Given the description of an element on the screen output the (x, y) to click on. 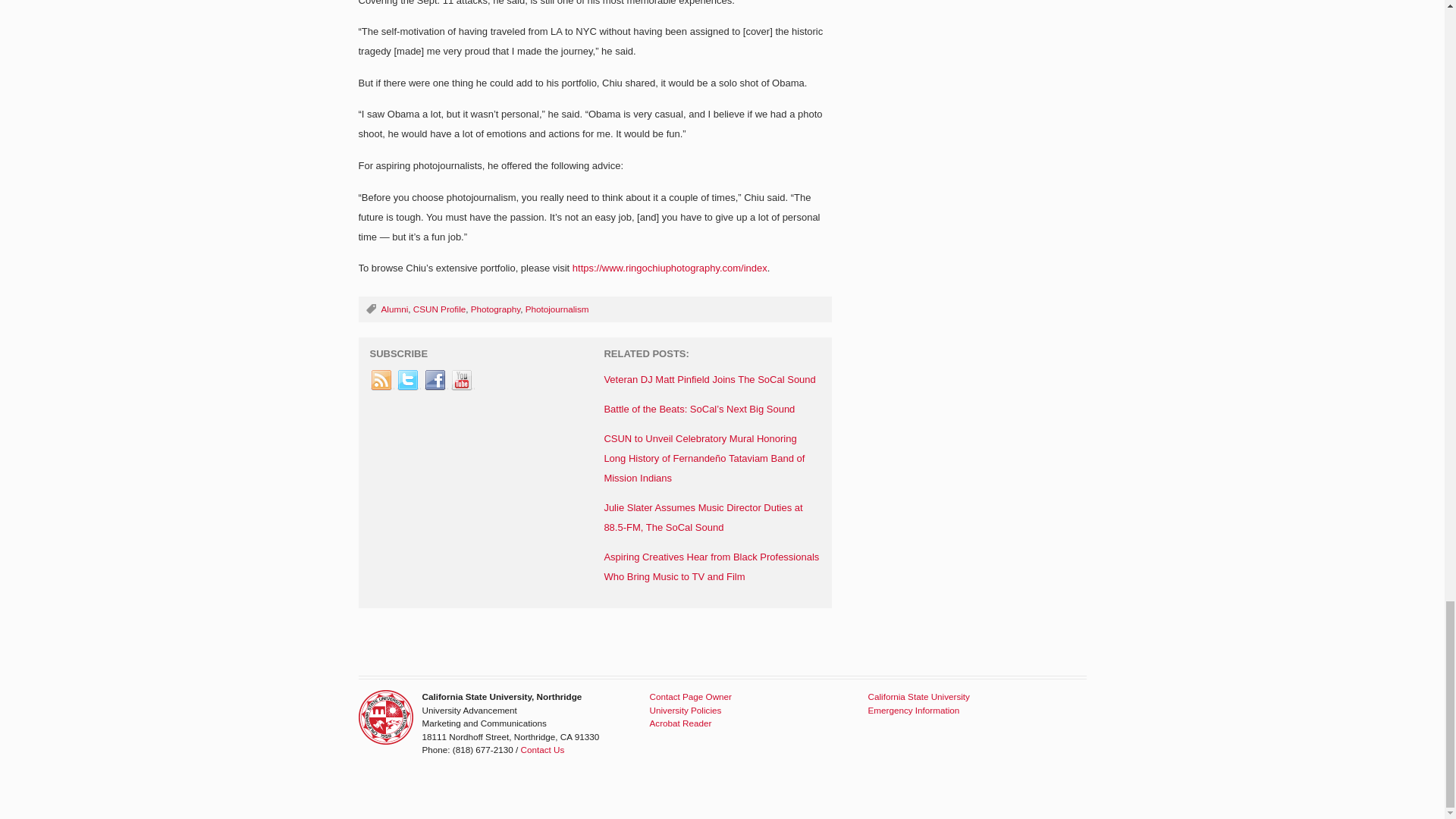
Alumni (393, 308)
Photojournalism (557, 308)
Veteran DJ Matt Pinfield Joins The SoCal Sound (709, 378)
Facebook (435, 379)
Photography (494, 308)
RSS (381, 379)
Veteran DJ Matt Pinfield Joins The SoCal Sound (709, 378)
CSUN Profile (439, 308)
YouTube (461, 379)
Twitter (408, 379)
